Given the description of an element on the screen output the (x, y) to click on. 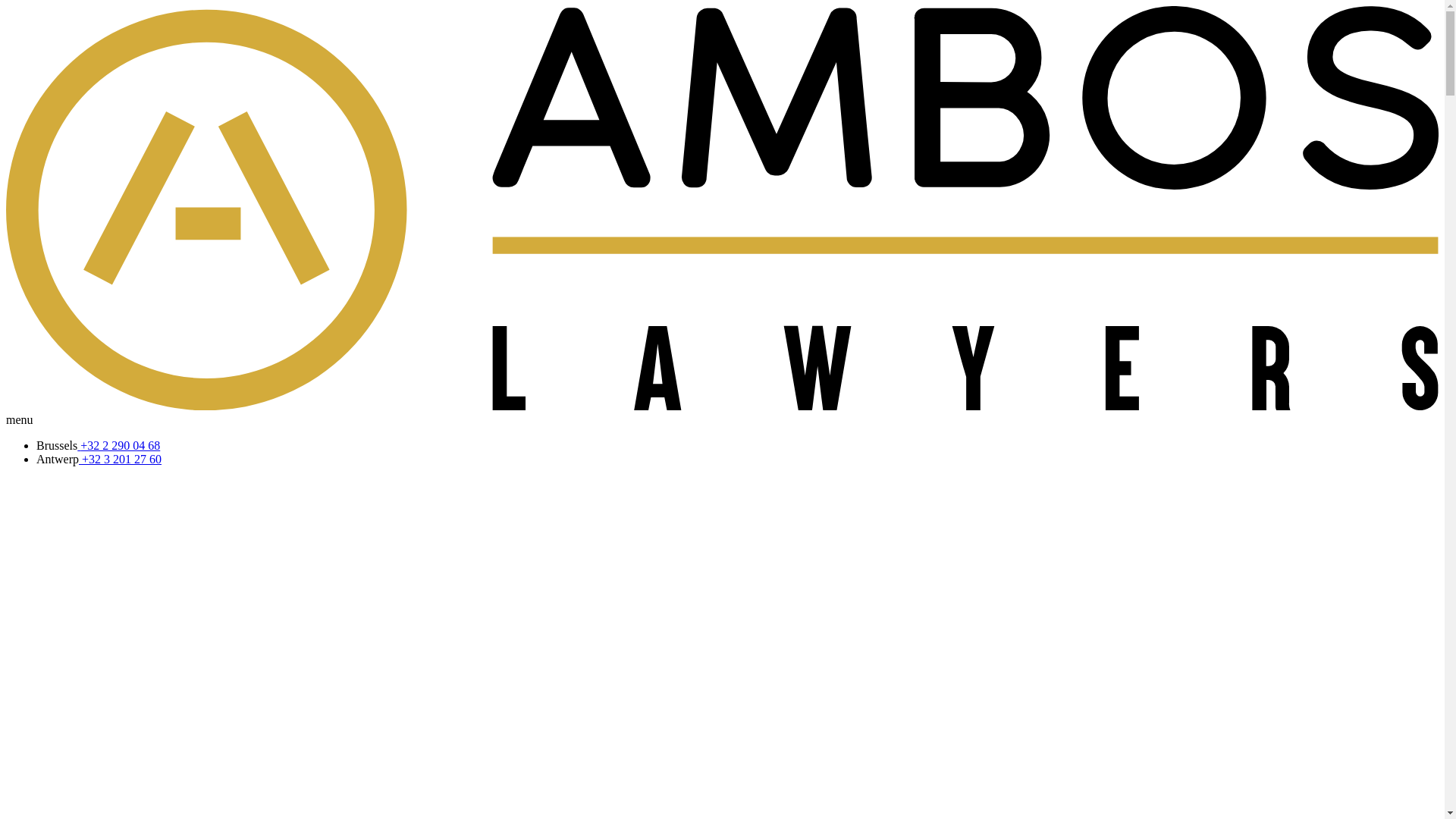
+32 3 201 27 60 Element type: text (119, 458)
Home Element type: hover (722, 405)
+32 2 290 04 68 Element type: text (118, 445)
Skip to main content Element type: text (6, 6)
